Given the description of an element on the screen output the (x, y) to click on. 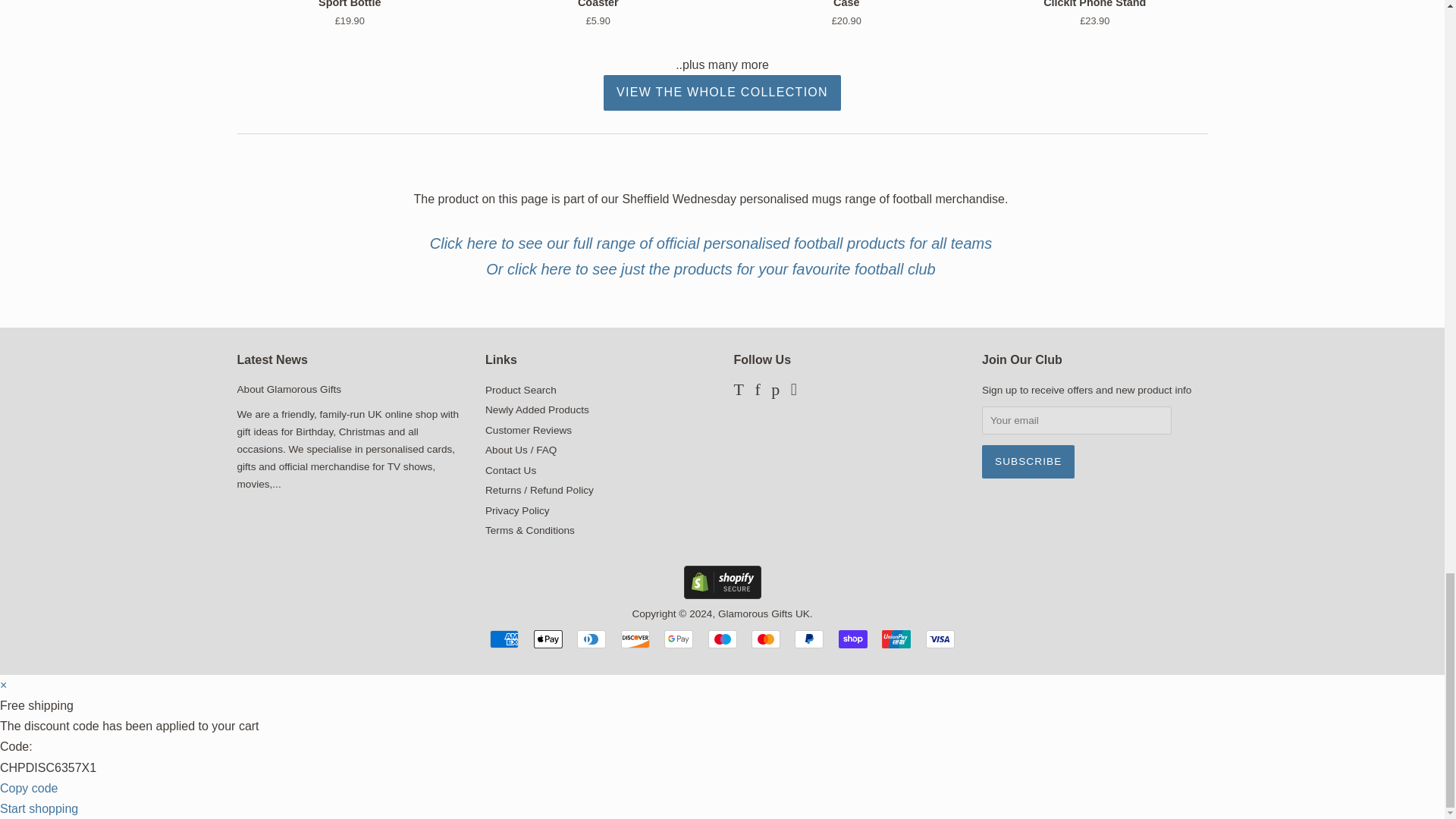
Glamorous Gifts UK on Instagram (793, 391)
Union Pay (896, 638)
Discover (635, 638)
Mastercard (765, 638)
Diners Club (590, 638)
PayPal (809, 638)
Glamorous Gifts UK on Pinterest (774, 391)
Glamorous Gifts UK on Facebook (757, 391)
Apple Pay (548, 638)
Maestro (721, 638)
Subscribe (1027, 461)
Shop Pay (852, 638)
Visa (940, 638)
Glamorous Gifts UK on Twitter (738, 391)
American Express (503, 638)
